Given the description of an element on the screen output the (x, y) to click on. 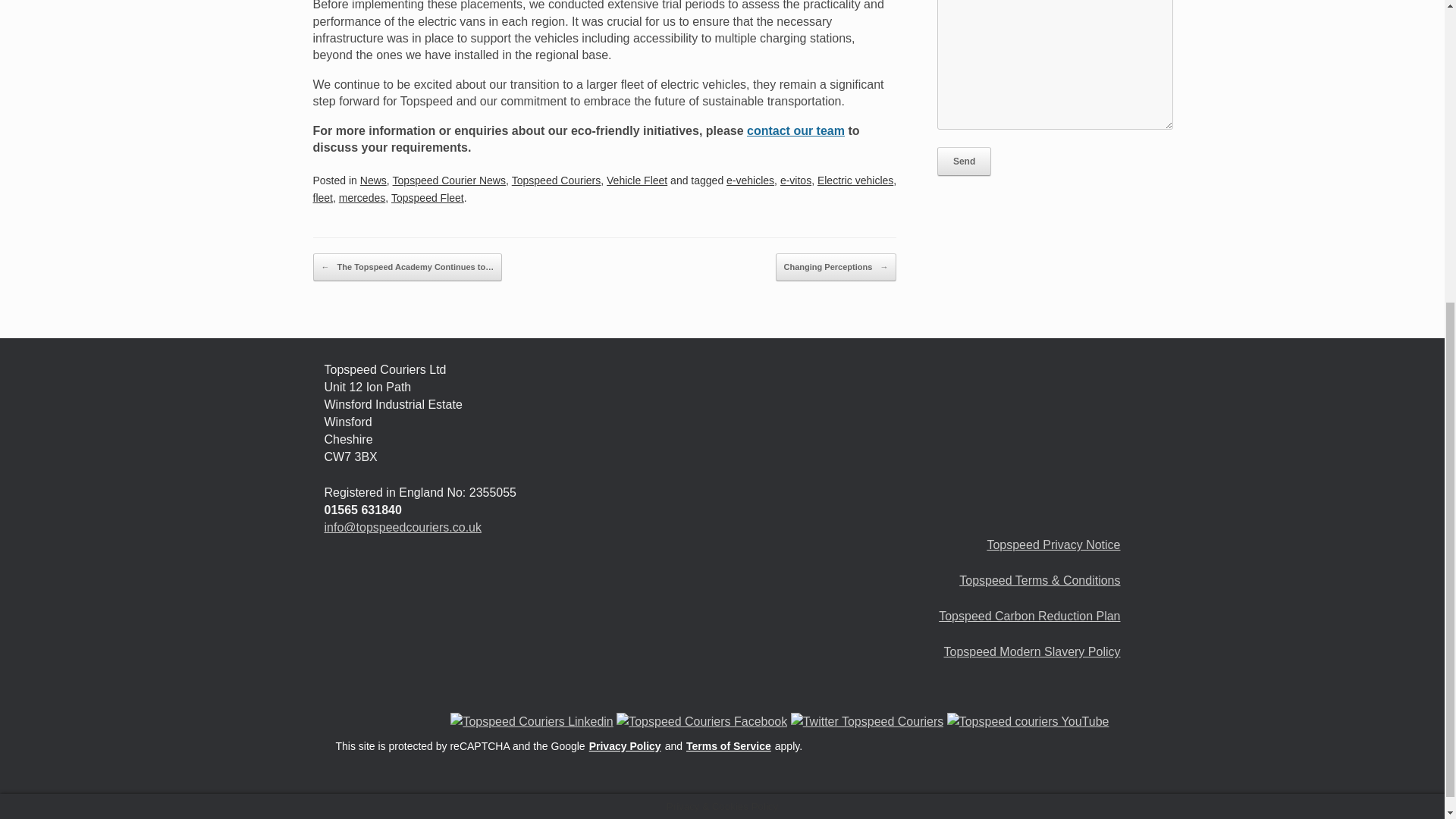
mercedes (362, 197)
e-vitos (795, 180)
Vehicle Fleet (636, 180)
Topspeed Privacy Notice (1053, 544)
Topspeed Carbon Reduction Plan (1029, 615)
e-vehicles (750, 180)
Electric vehicles (854, 180)
Topspeed Courier News (449, 180)
Send (964, 161)
News (373, 180)
